Given the description of an element on the screen output the (x, y) to click on. 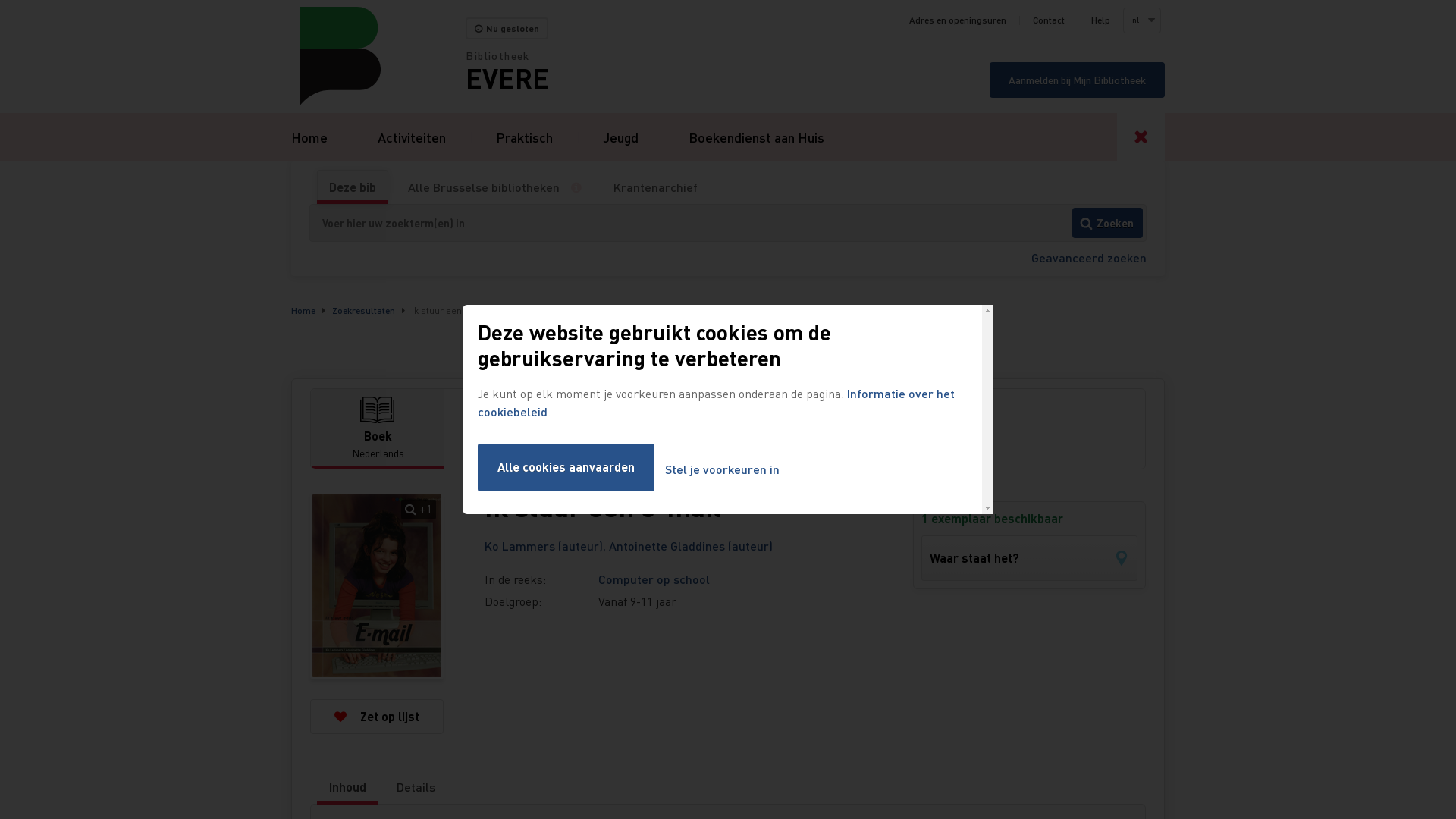
Activiteiten Element type: text (411, 136)
Zoeken Element type: text (1107, 222)
Alle Brusselse bibliotheken Element type: text (483, 186)
Meer informatie Element type: hover (582, 186)
Computer op school Element type: text (653, 578)
Krantenarchief Element type: text (655, 186)
Aanmelden bij Mijn Bibliotheek Element type: text (1076, 79)
Zoekresultaten Element type: text (363, 310)
Praktisch Element type: text (523, 136)
Toggle search Element type: hover (1140, 136)
Inhoud Element type: text (347, 786)
Informatie over het cookiebeleid Element type: text (715, 402)
Home Element type: text (303, 310)
Geavanceerd zoeken Element type: text (1088, 257)
Home Element type: hover (378, 55)
Jeugd Element type: text (620, 136)
Waar staat het? Element type: text (1029, 557)
Adres en openingsuren Element type: text (957, 20)
Contact Element type: text (1048, 20)
Boekendienst aan Huis Element type: text (756, 136)
Overslaan en naar zoeken gaan Element type: text (0, 0)
Details Element type: text (415, 786)
Antoinette Gladdines (auteur) Element type: text (690, 545)
Deze bib Element type: text (352, 186)
Stel je voorkeuren in Element type: text (722, 469)
Help Element type: text (1100, 20)
Zet op lijst Element type: text (376, 716)
Home Element type: text (309, 136)
Alle cookies aanvaarden Element type: text (565, 466)
Nu gesloten Element type: text (506, 28)
Ko Lammers (auteur), Element type: text (546, 545)
nl Element type: text (1140, 20)
